Given the description of an element on the screen output the (x, y) to click on. 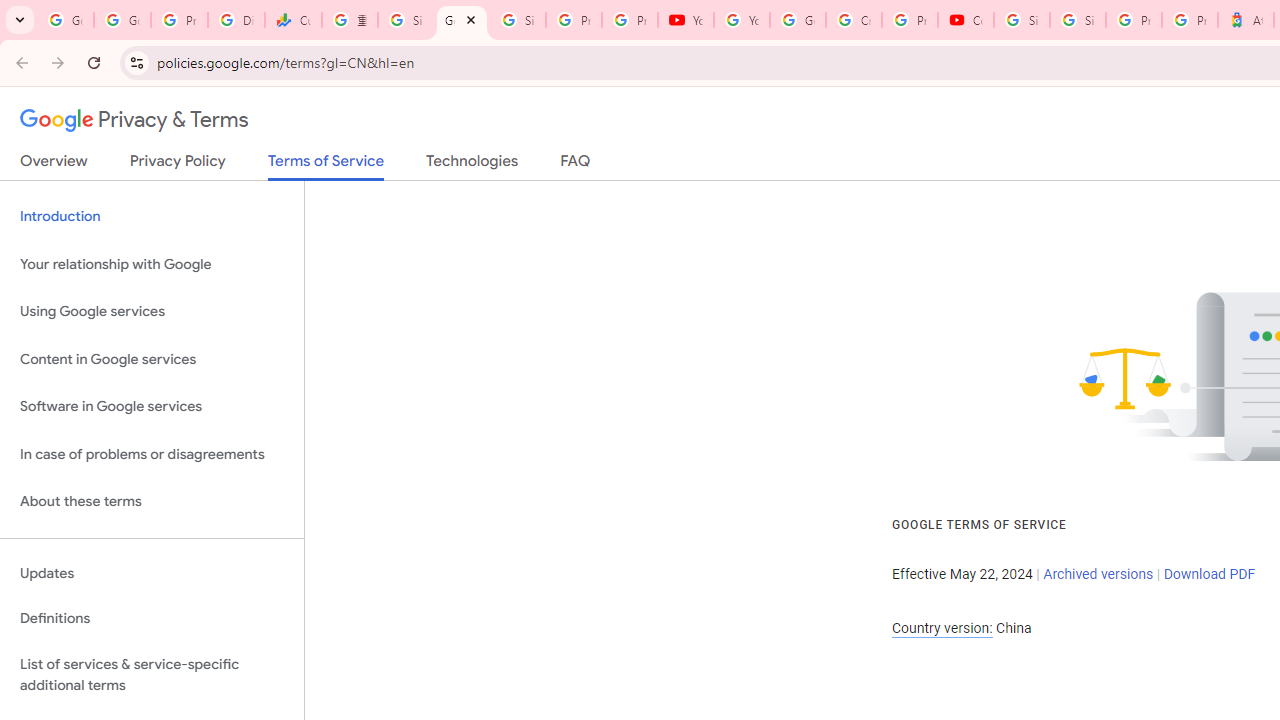
Country version: (942, 628)
Download PDF (1209, 574)
List of services & service-specific additional terms (152, 674)
